Given the description of an element on the screen output the (x, y) to click on. 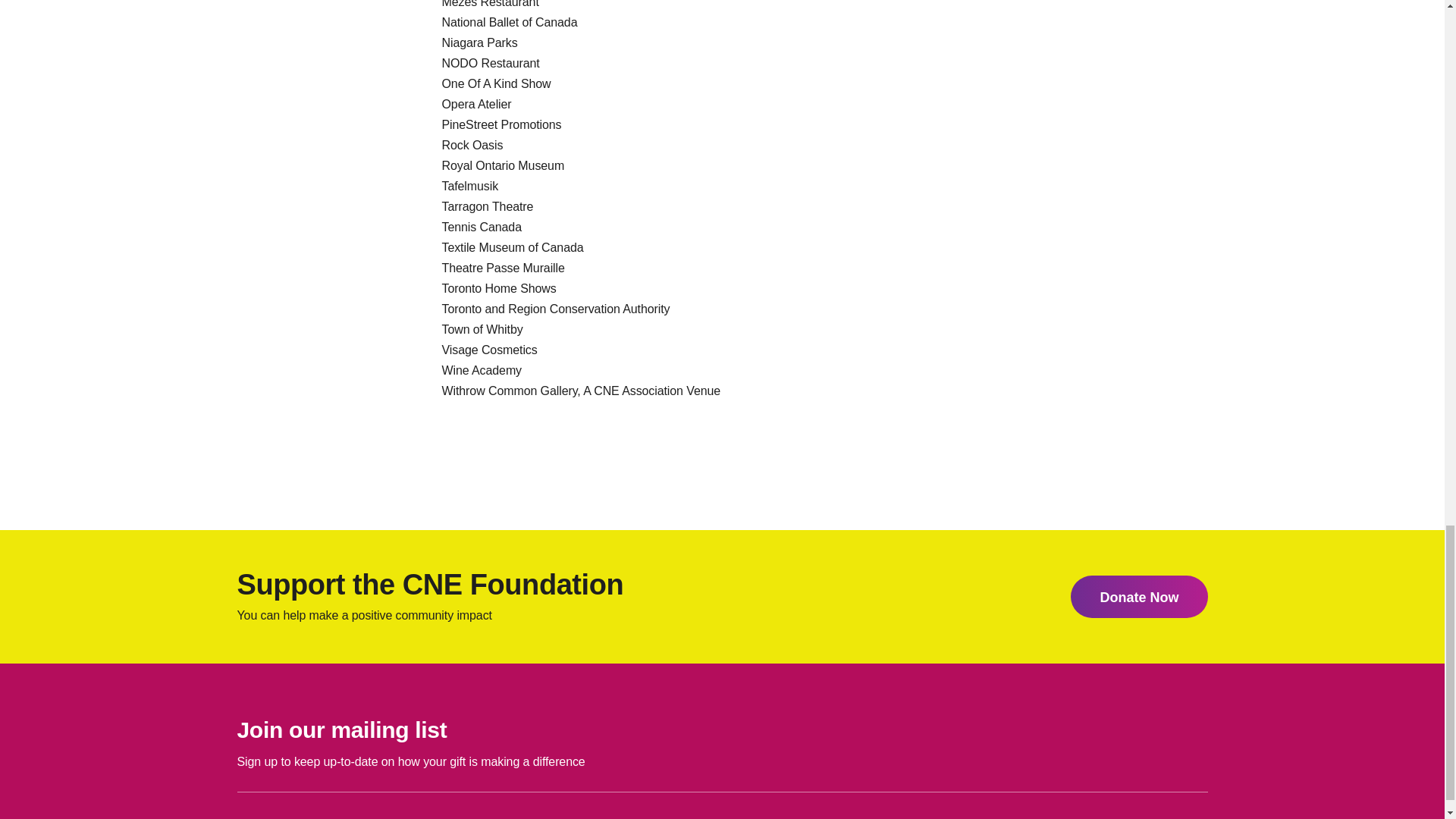
Donate Now (1138, 596)
